Given the description of an element on the screen output the (x, y) to click on. 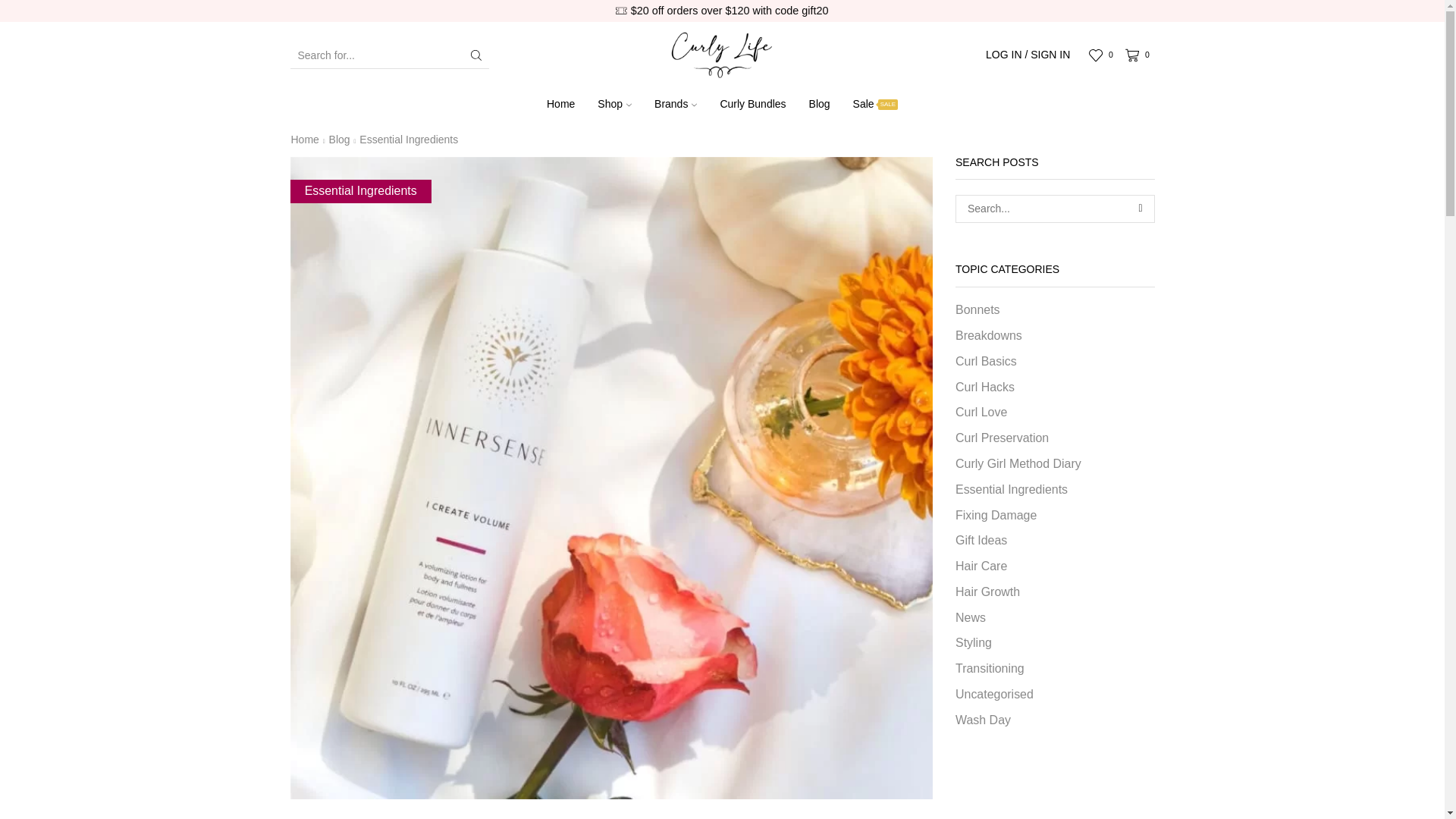
0 (1139, 55)
Shop (614, 104)
Home (560, 104)
0 (1103, 55)
Log in (955, 266)
